Given the description of an element on the screen output the (x, y) to click on. 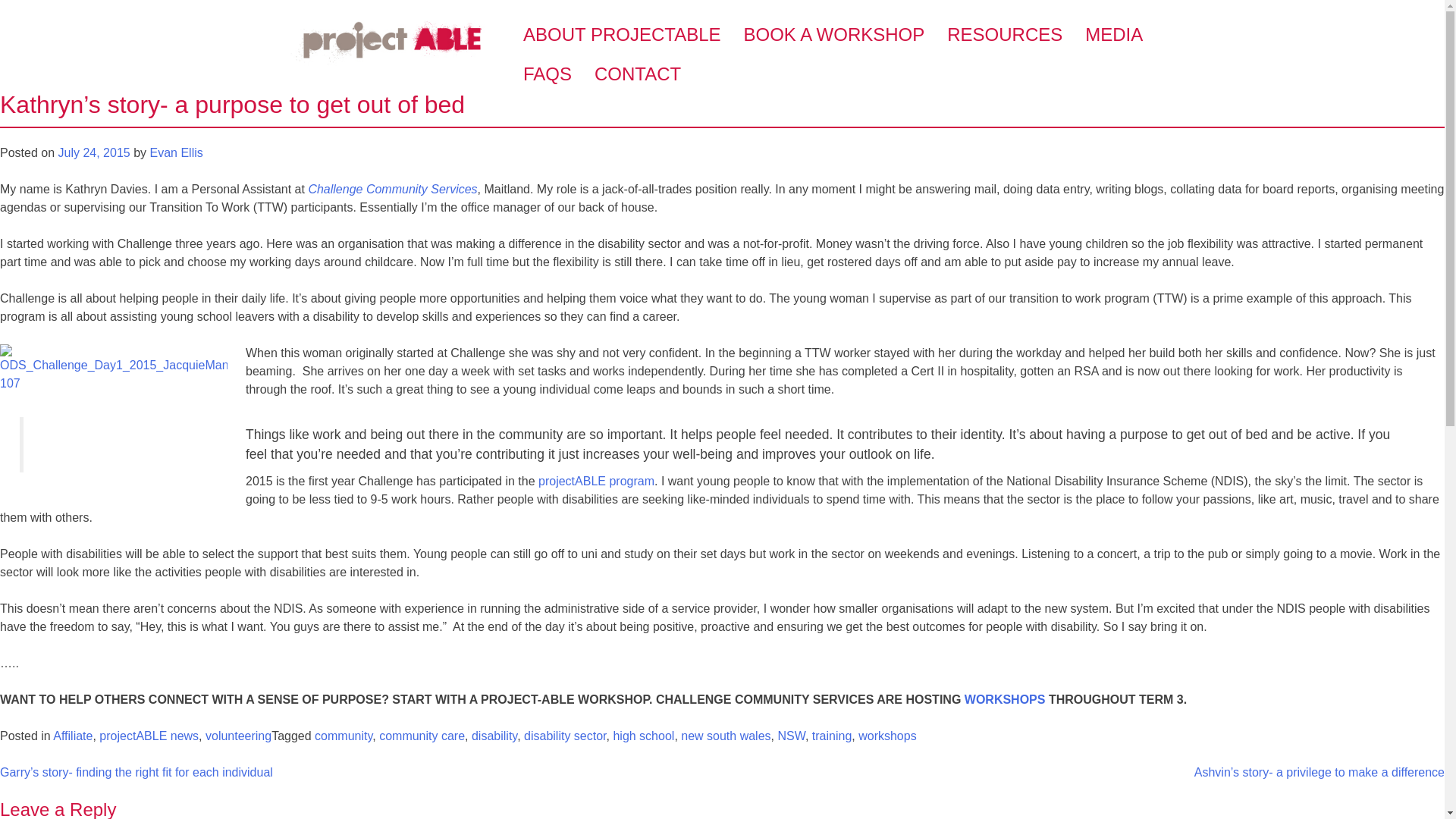
high school (643, 735)
ABOUT PROJECTABLE (622, 34)
projectABLE news (148, 735)
volunteering (237, 735)
training (831, 735)
new south wales (725, 735)
FAQS (547, 74)
community (343, 735)
NSW (791, 735)
